Given the description of an element on the screen output the (x, y) to click on. 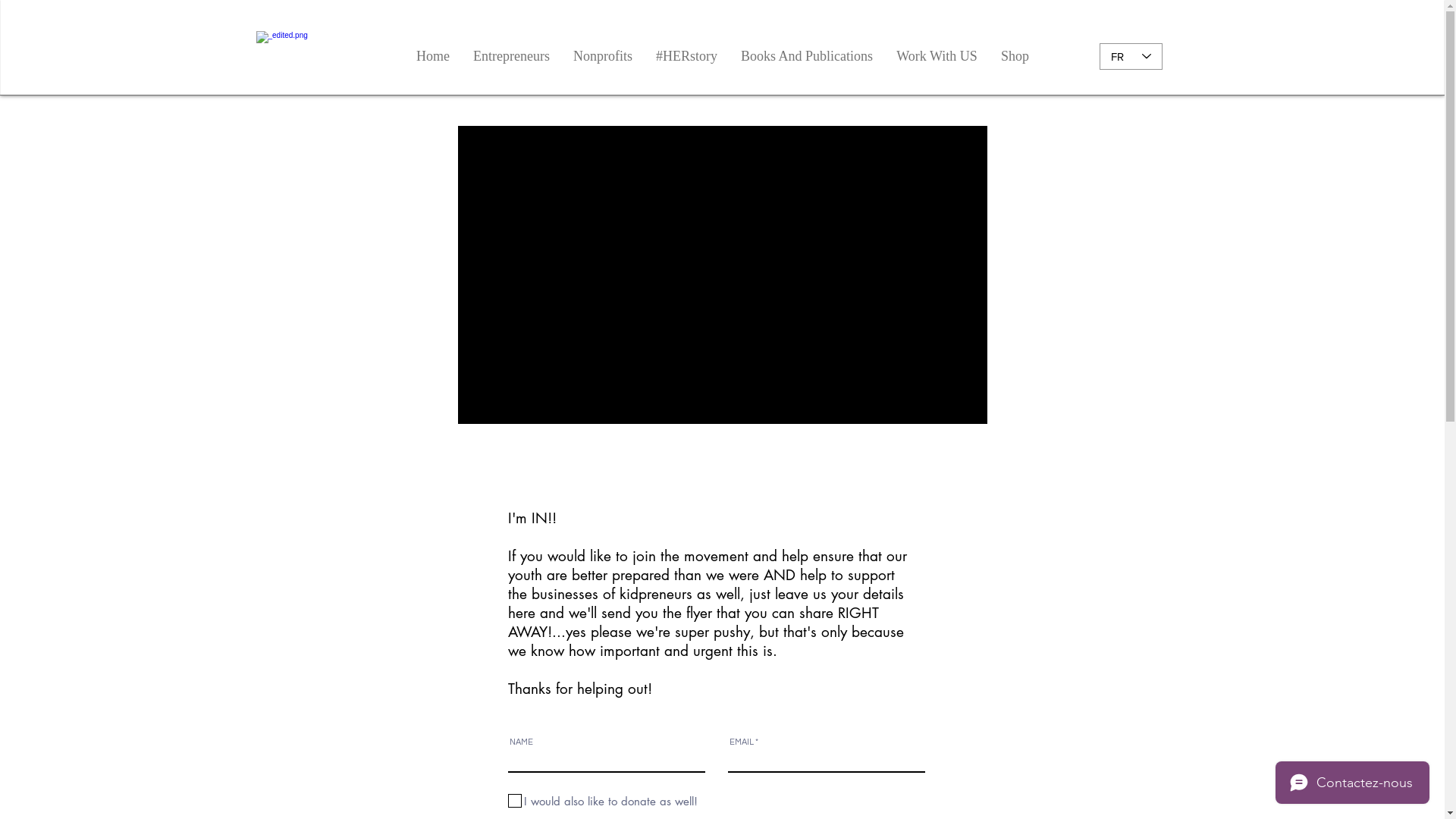
#HERstory Element type: text (685, 56)
Nonprofits Element type: text (602, 56)
Books And Publications Element type: text (806, 56)
Home Element type: text (432, 56)
Work With US Element type: text (936, 56)
Shop Element type: text (1014, 56)
Entrepreneurs Element type: text (511, 56)
